Given the description of an element on the screen output the (x, y) to click on. 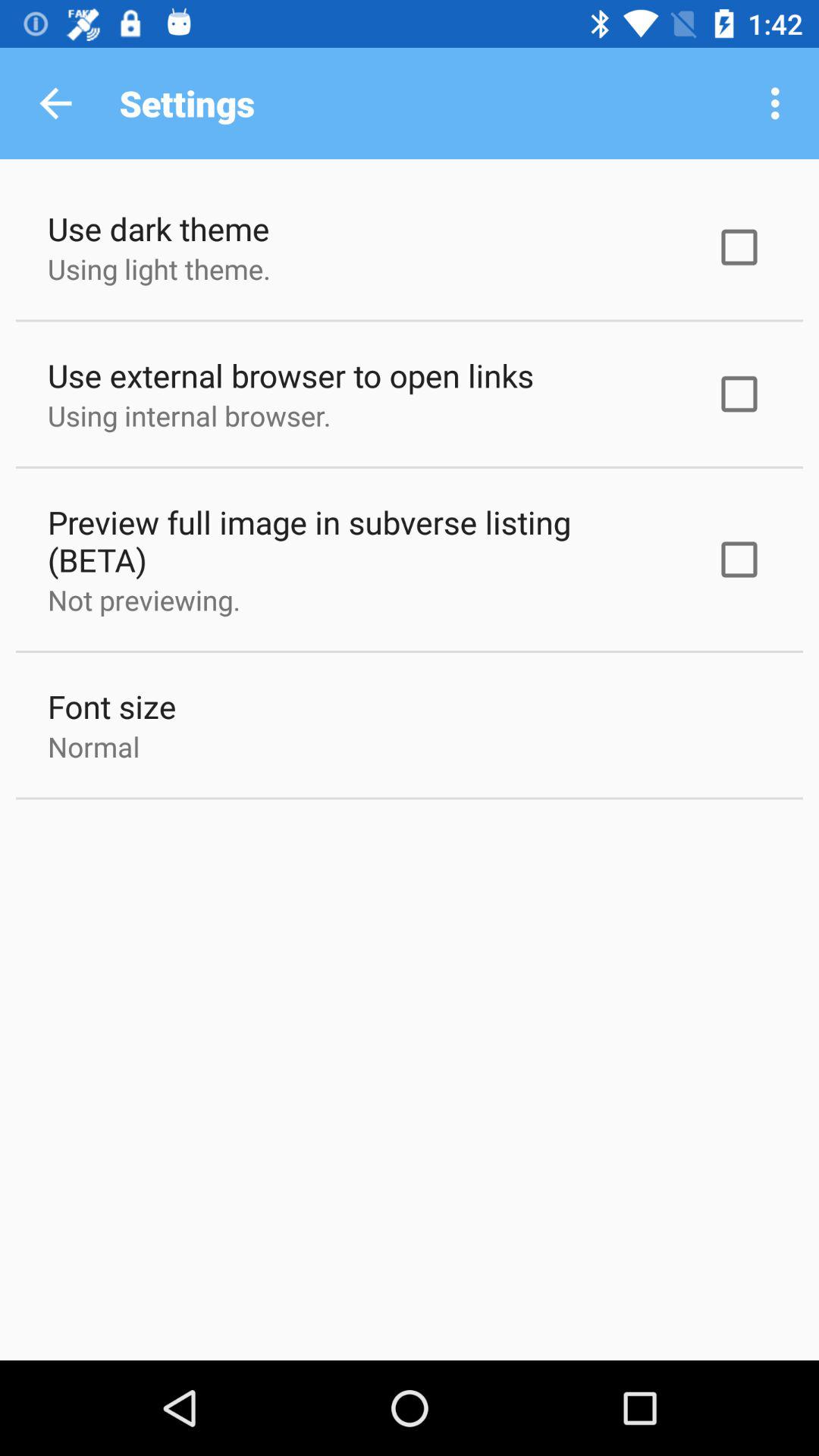
click on the third empty box (739, 559)
click on the blank option on the right (739, 247)
